Given the description of an element on the screen output the (x, y) to click on. 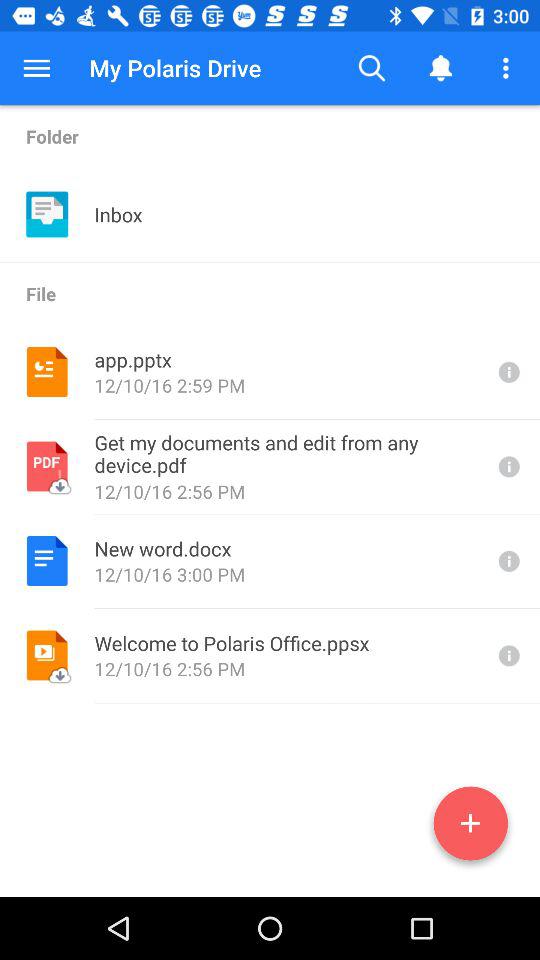
info about pdf (507, 466)
